Given the description of an element on the screen output the (x, y) to click on. 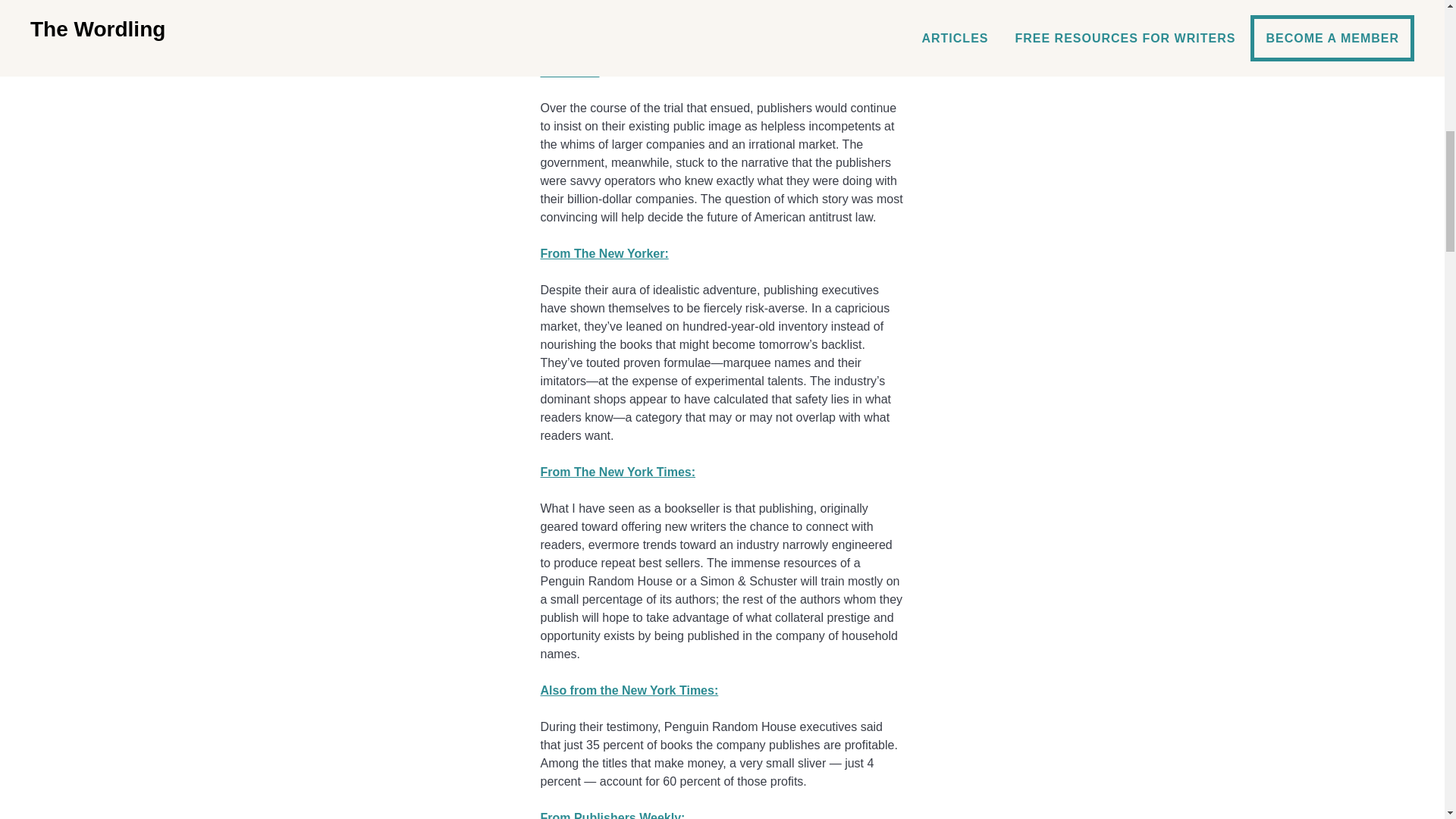
Also from the New York Times: (628, 689)
From Vox: (569, 71)
From The New Yorker: (604, 253)
From The New York Times: (617, 472)
From Publishers Weekly: (612, 815)
